Given the description of an element on the screen output the (x, y) to click on. 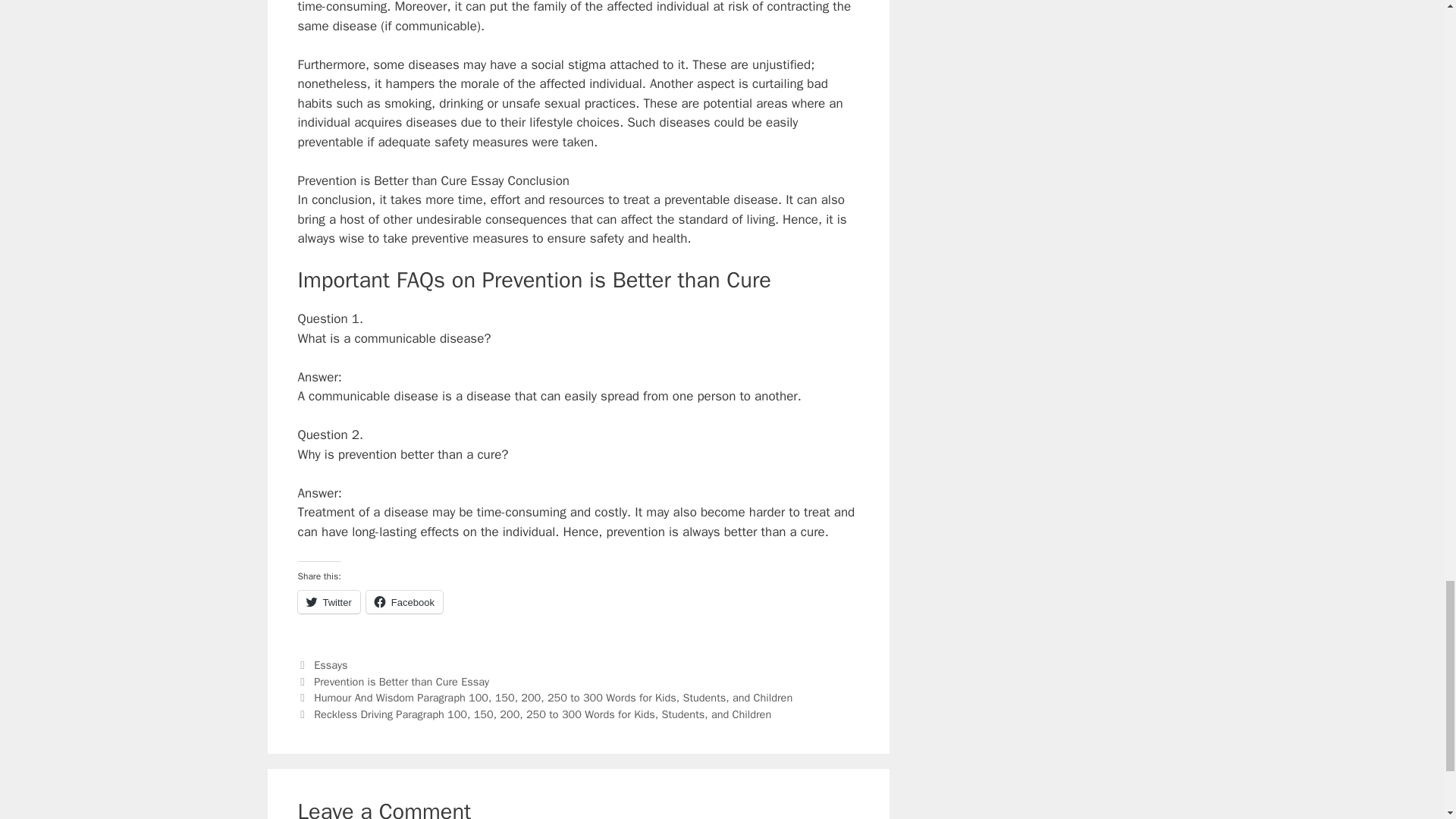
Facebook (404, 601)
Prevention is Better than Cure Essay (401, 681)
Click to share on Facebook (404, 601)
Essays (330, 664)
Click to share on Twitter (328, 601)
Twitter (328, 601)
